Given the description of an element on the screen output the (x, y) to click on. 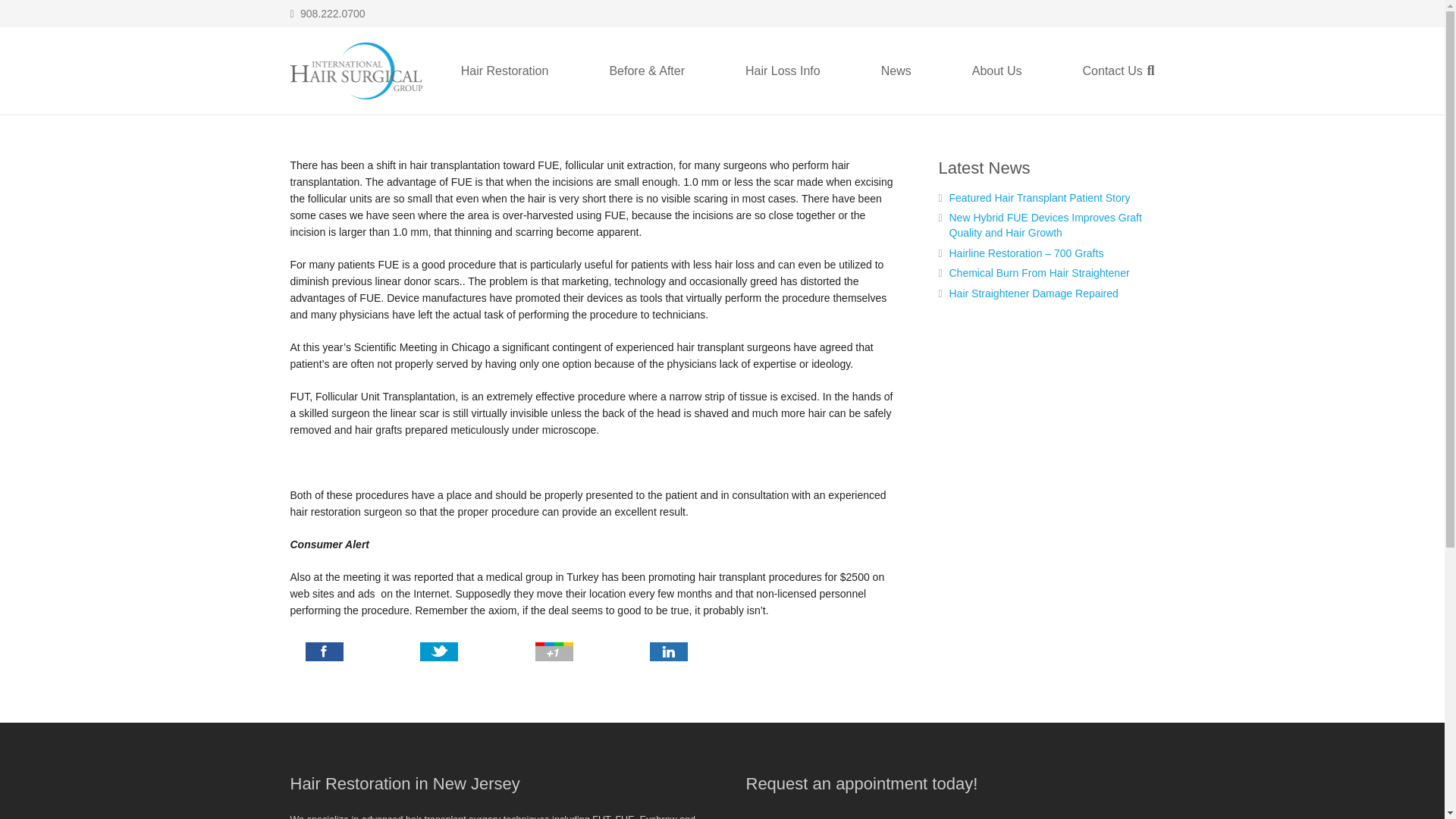
Chemical Burn From Hair Straightener (1039, 272)
Hair Restoration (504, 70)
Featured Hair Transplant Patient Story (1040, 197)
News (896, 70)
Hair Loss Info (782, 70)
About Us (997, 70)
Hair Straightener Damage Repaired (1033, 293)
Contact Us (1112, 70)
Search (1149, 70)
